Given the description of an element on the screen output the (x, y) to click on. 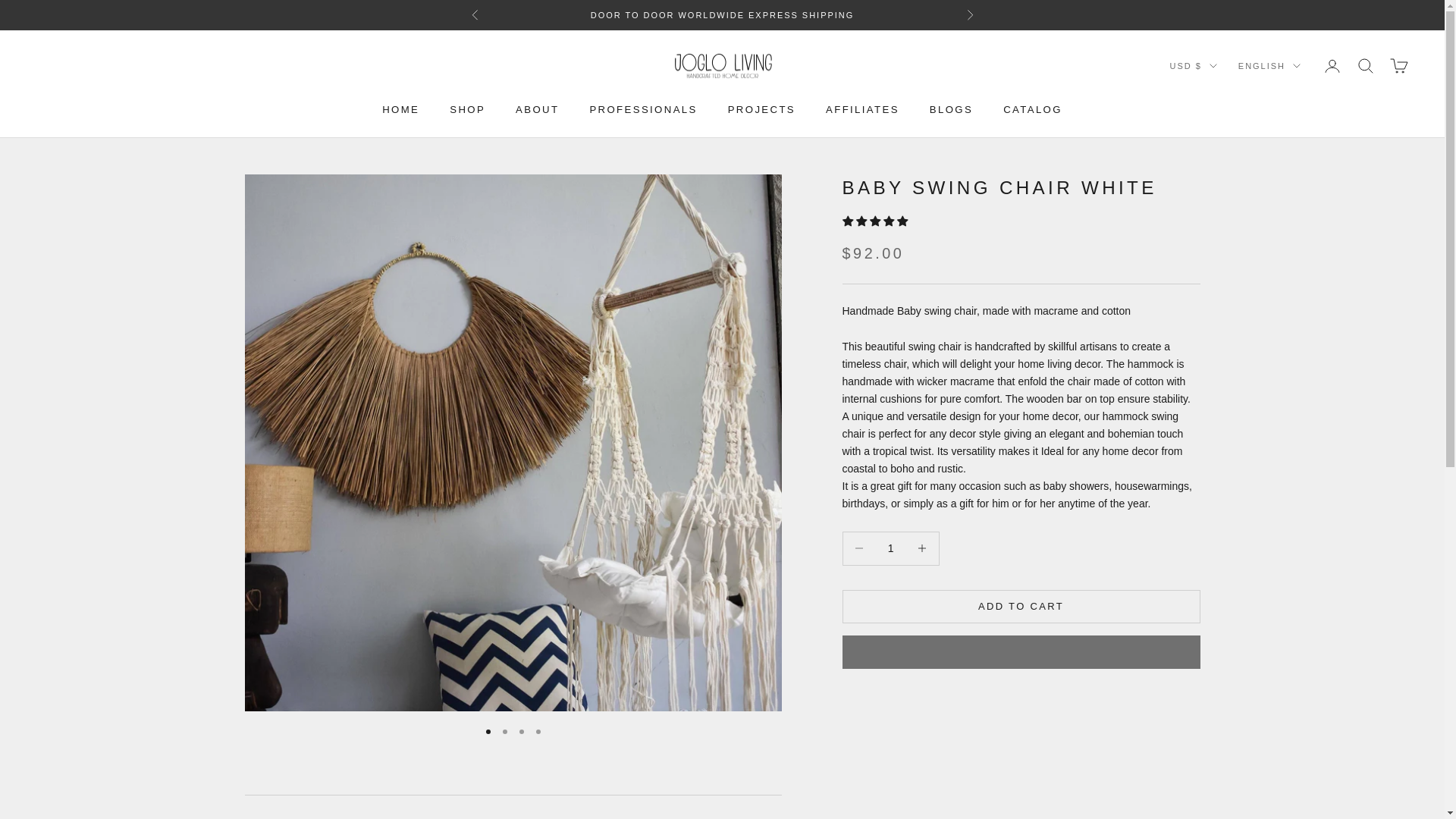
ABOUT (537, 109)
AFFILIATES (862, 109)
BLOGS (951, 109)
Joglo Living (721, 65)
PROJECTS (761, 109)
PROFESSIONALS (643, 109)
1 (890, 548)
CATALOG (1032, 109)
HOME (512, 806)
